Given the description of an element on the screen output the (x, y) to click on. 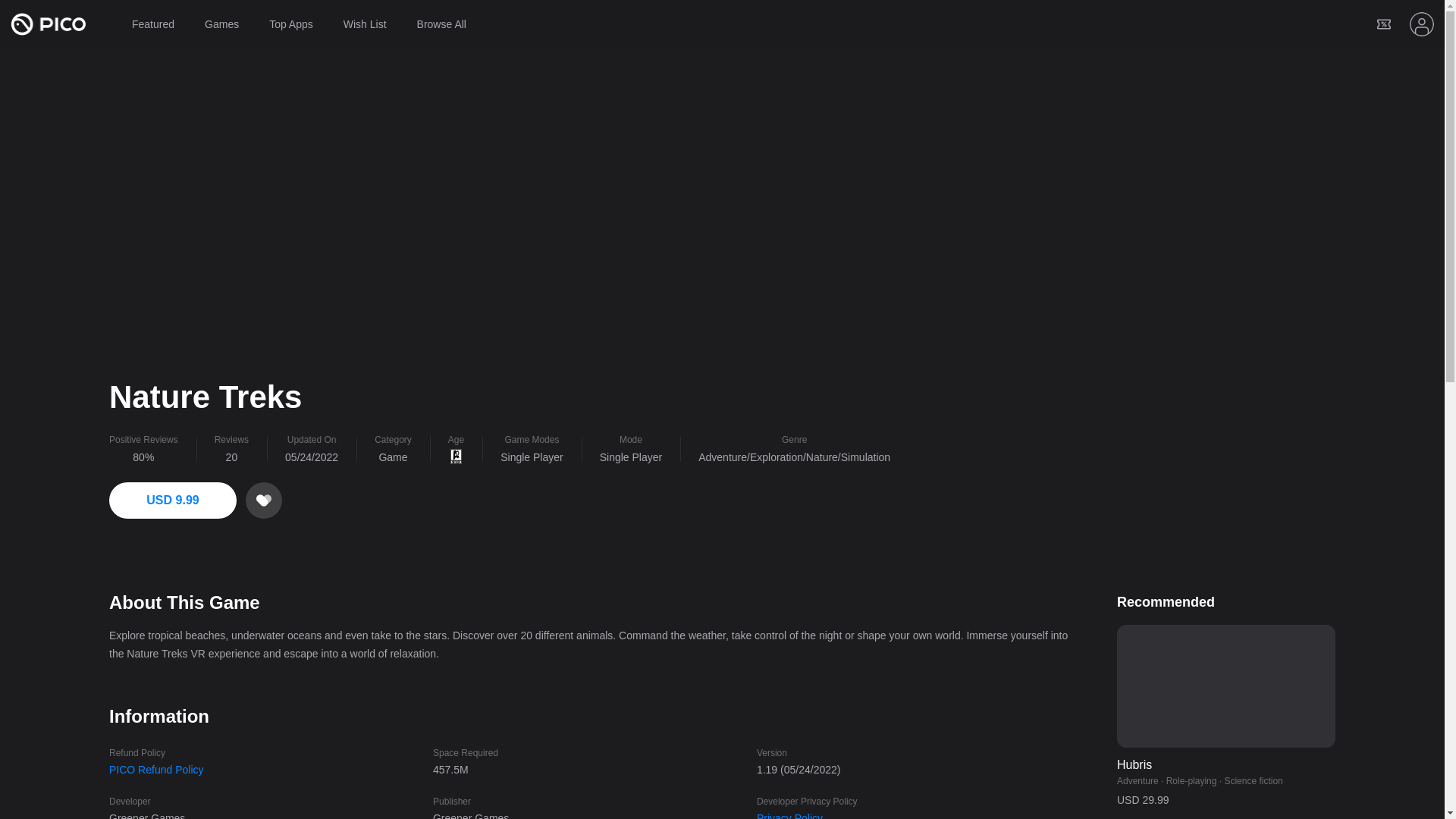
Top Apps (290, 24)
Privacy Policy (789, 815)
PICO Refund Policy (156, 769)
Games (221, 24)
Featured (152, 24)
Browse All (441, 24)
Wish List (364, 24)
